Given the description of an element on the screen output the (x, y) to click on. 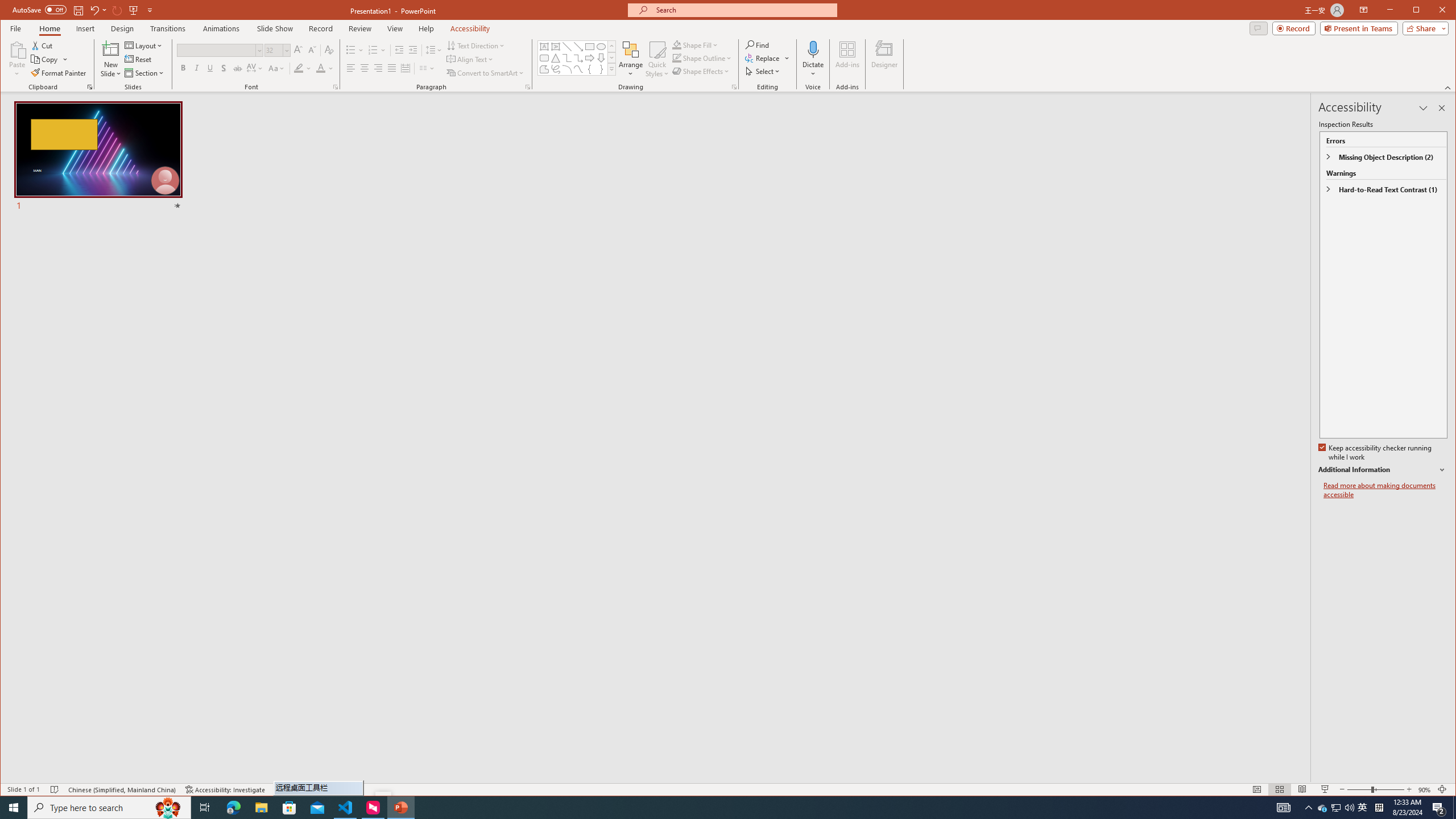
Layout (143, 45)
Text Highlight Color Yellow (1335, 807)
Text Direction (298, 68)
Show desktop (476, 45)
Maximize (1454, 807)
